Given the description of an element on the screen output the (x, y) to click on. 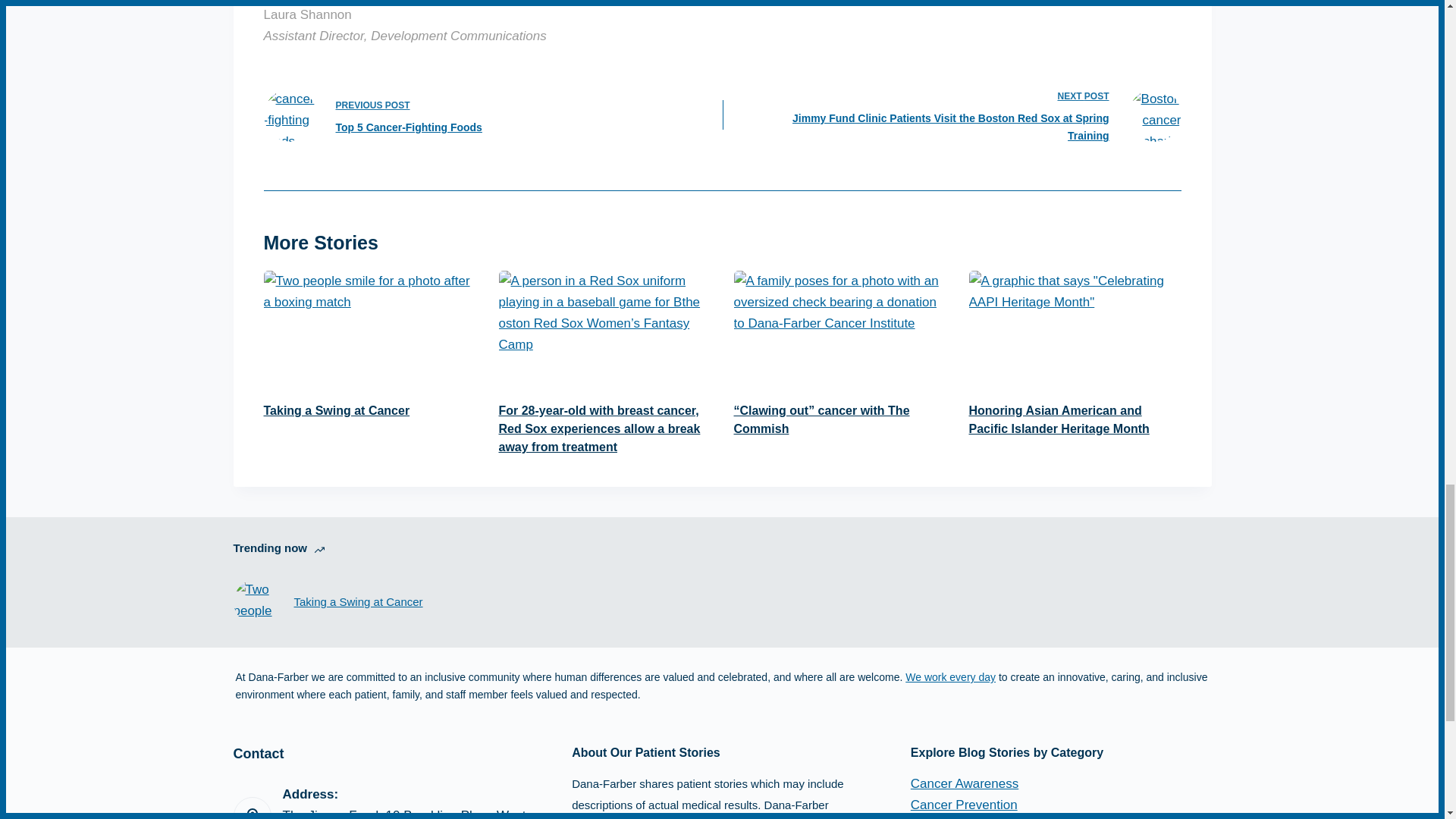
Honoring Asian American and Pacific Islander Heritage Month (1059, 419)
Cancer Prevention (474, 114)
Taking a Swing at Cancer (964, 804)
Cancer Awareness (336, 410)
We work every day (964, 783)
Taking a Swing at Cancer (950, 676)
